Given the description of an element on the screen output the (x, y) to click on. 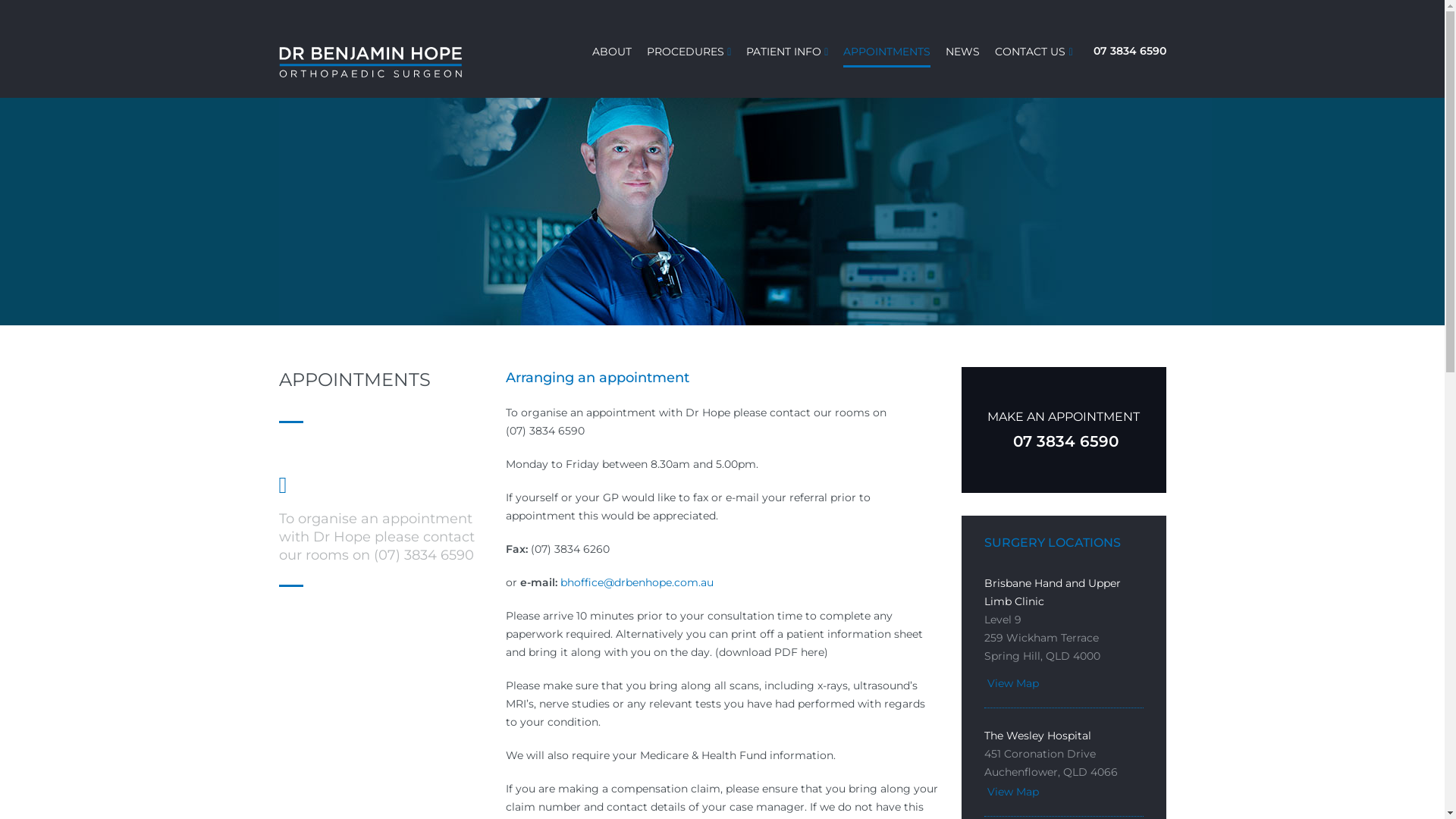
image logo Element type: hover (370, 61)
PROCEDURES Element type: text (685, 51)
View Map Element type: text (1011, 791)
NEWS Element type: text (962, 51)
PATIENT INFO Element type: text (783, 51)
Dr Benjamin Hope Element type: hover (381, 61)
APPOINTMENTS Element type: text (886, 51)
CONTACT US Element type: text (1029, 51)
bhoffice@drbenhope.com.au Element type: text (636, 582)
View Map Element type: text (1011, 683)
ABOUT Element type: text (611, 51)
